Given the description of an element on the screen output the (x, y) to click on. 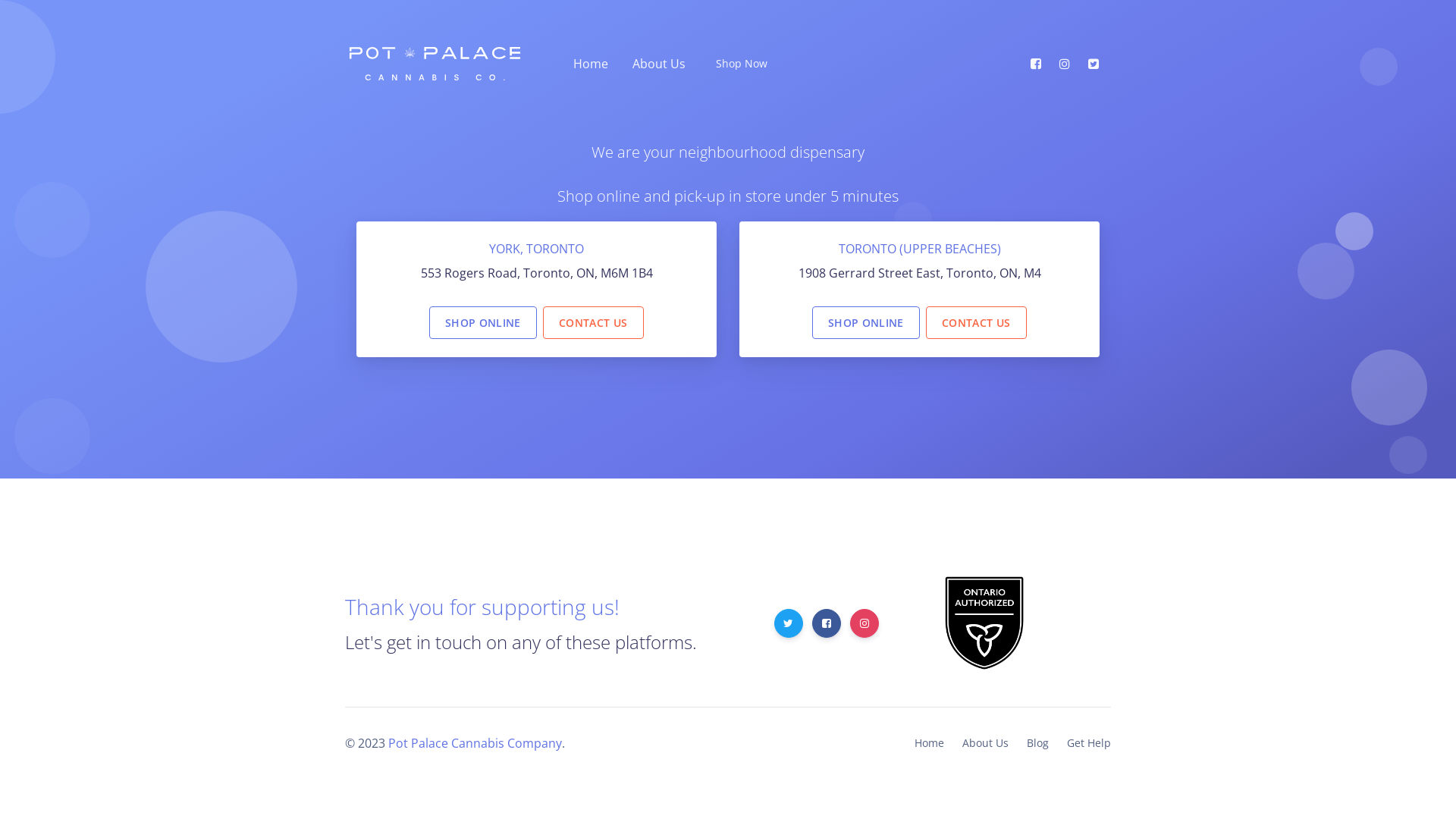
CONTACT US Element type: text (592, 322)
SHOP ONLINE Element type: text (482, 322)
Get Help Element type: text (1083, 742)
Shop Now Element type: text (738, 63)
About Us Element type: text (985, 742)
CONTACT US Element type: text (975, 322)
Blog Element type: text (1037, 742)
About Us Element type: text (655, 63)
Pot Palace Cannabis Company Element type: text (474, 742)
Home Element type: text (587, 63)
SHOP ONLINE Element type: text (865, 322)
Home Element type: text (929, 742)
